Given the description of an element on the screen output the (x, y) to click on. 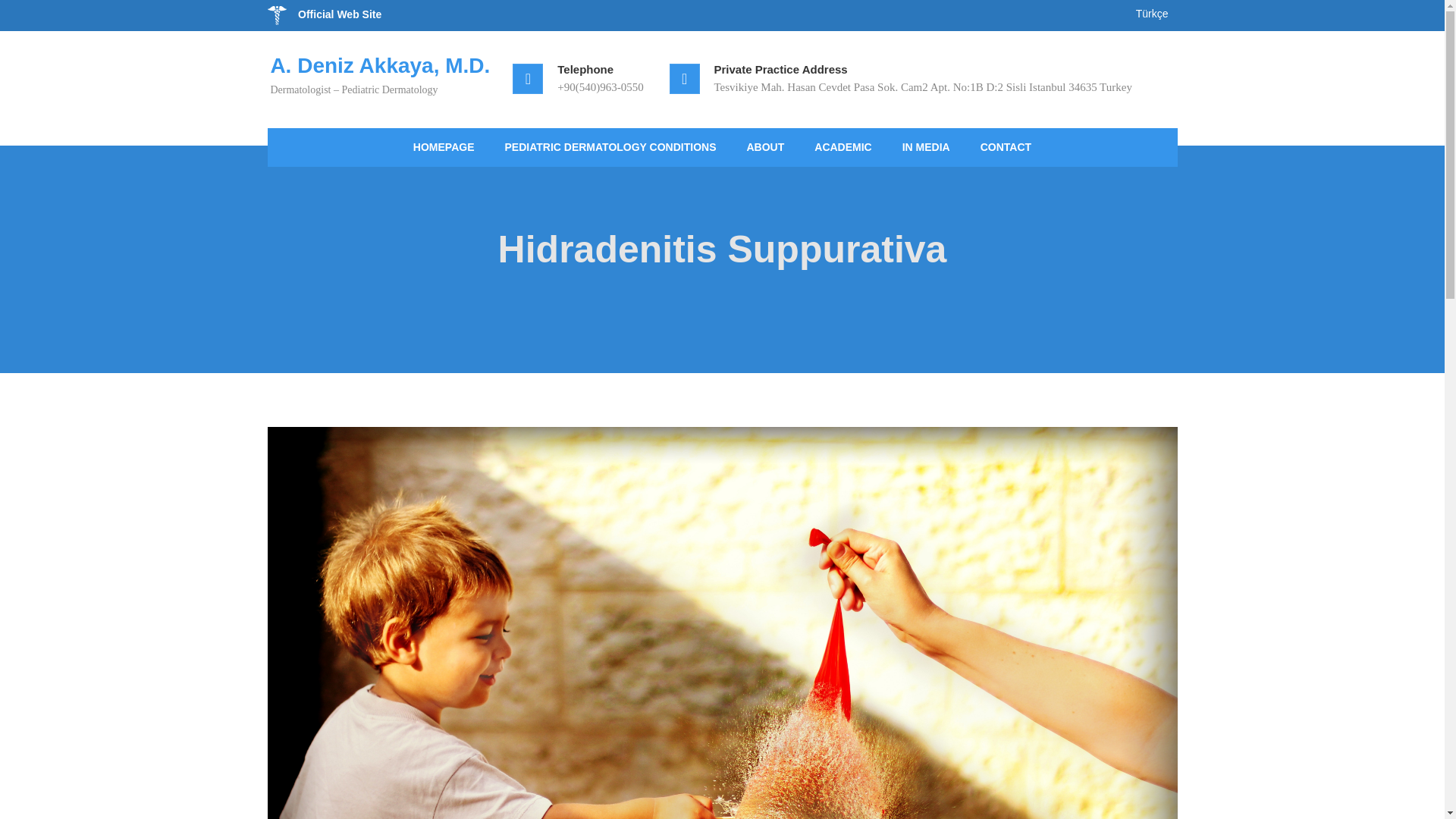
HOMEPAGE (443, 147)
IN MEDIA (925, 147)
PEDIATRIC DERMATOLOGY CONDITIONS (610, 147)
ACADEMIC (842, 147)
CONTACT (1005, 147)
ABOUT (764, 147)
